Given the description of an element on the screen output the (x, y) to click on. 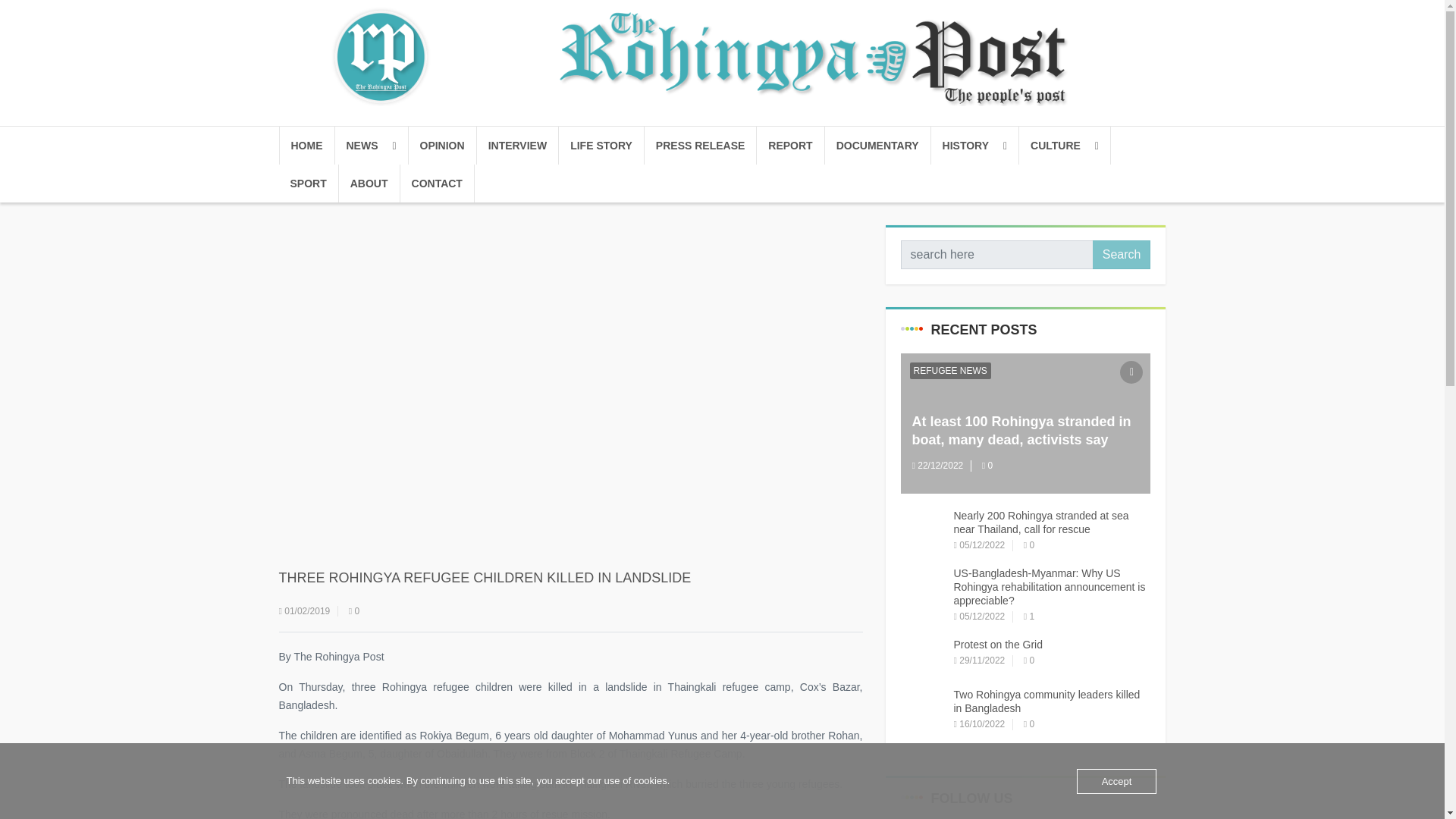
logo (721, 55)
CULTURE (1064, 145)
OPINION (441, 145)
0 (354, 611)
SPORT (309, 183)
INTERVIEW (518, 145)
HISTORY (975, 145)
REPORT (790, 145)
LIFE STORY (602, 145)
CONTACT (437, 183)
NEWS (371, 145)
DOCUMENTARY (878, 145)
ABOUT (369, 183)
HOME (306, 145)
PRESS RELEASE (701, 145)
